Given the description of an element on the screen output the (x, y) to click on. 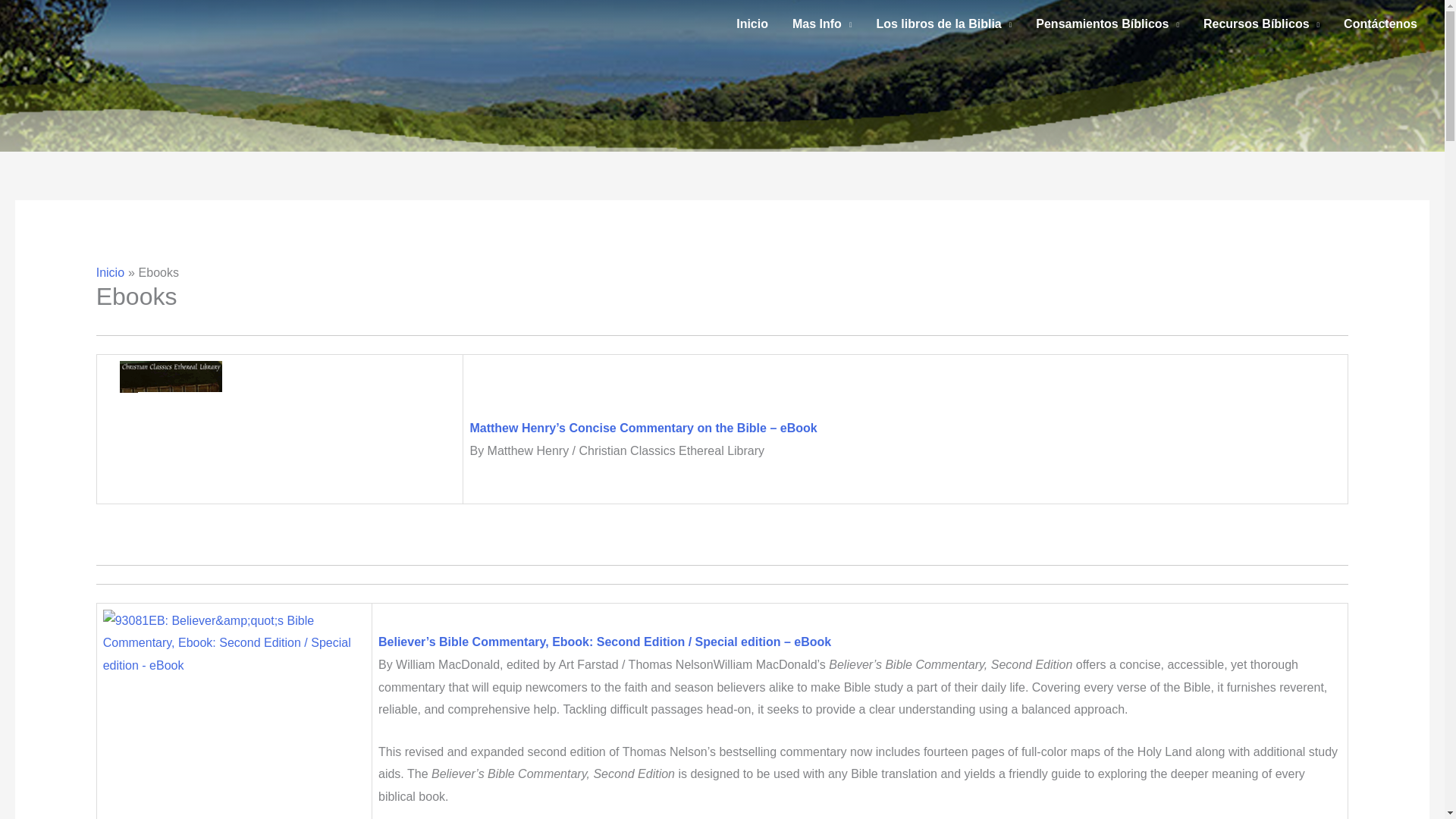
Los libros de la Biblia (943, 24)
Mas Info (821, 24)
Inicio (751, 24)
Inicio (109, 272)
